Given the description of an element on the screen output the (x, y) to click on. 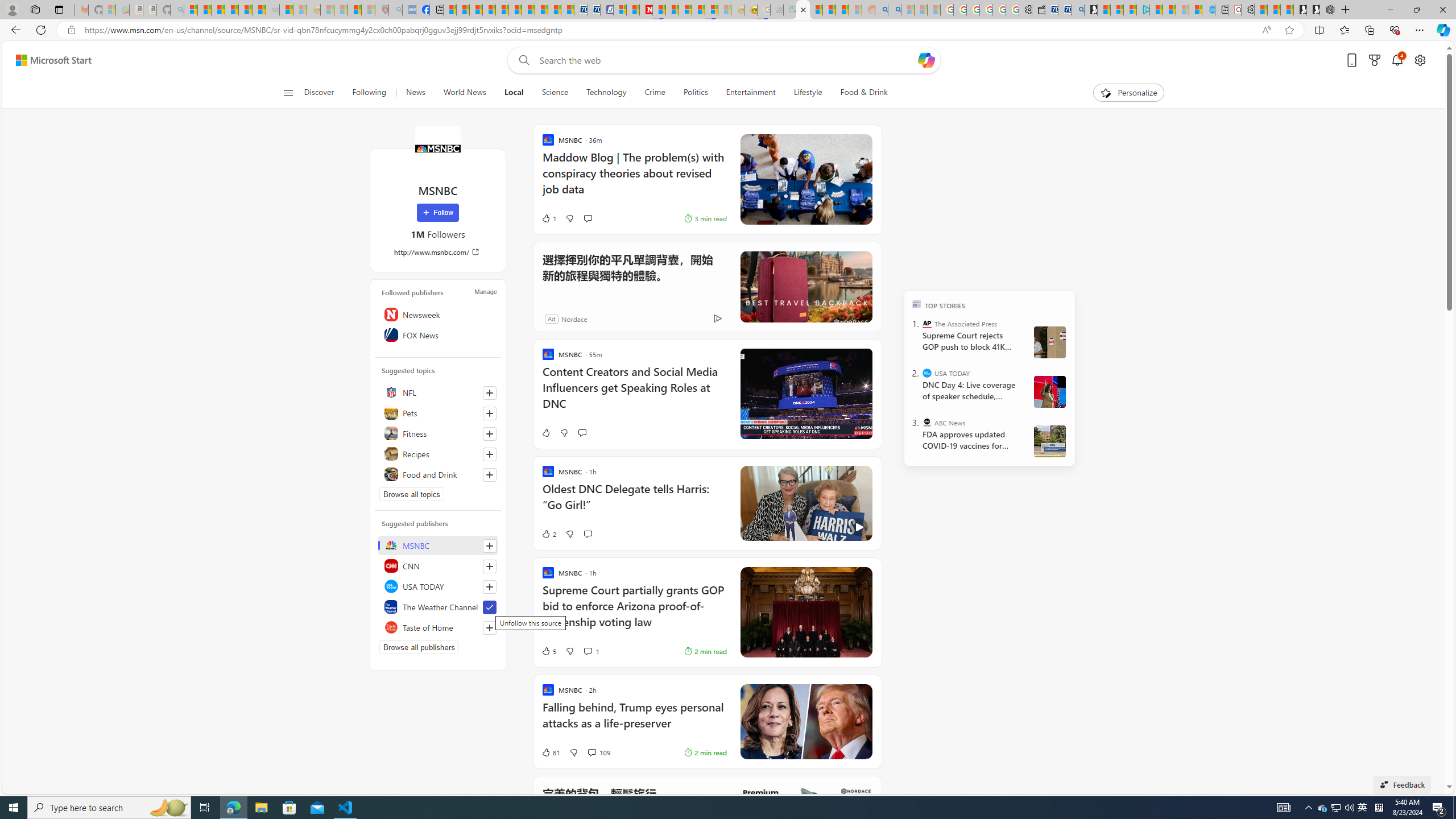
MSNBC (437, 148)
Browse all publishers (419, 647)
Follow this topic (489, 474)
Bing Real Estate - Home sales and rental listings (1077, 9)
Wallet (1037, 9)
Browse all topics (412, 494)
Combat Siege - Sleeping (271, 9)
